Given the description of an element on the screen output the (x, y) to click on. 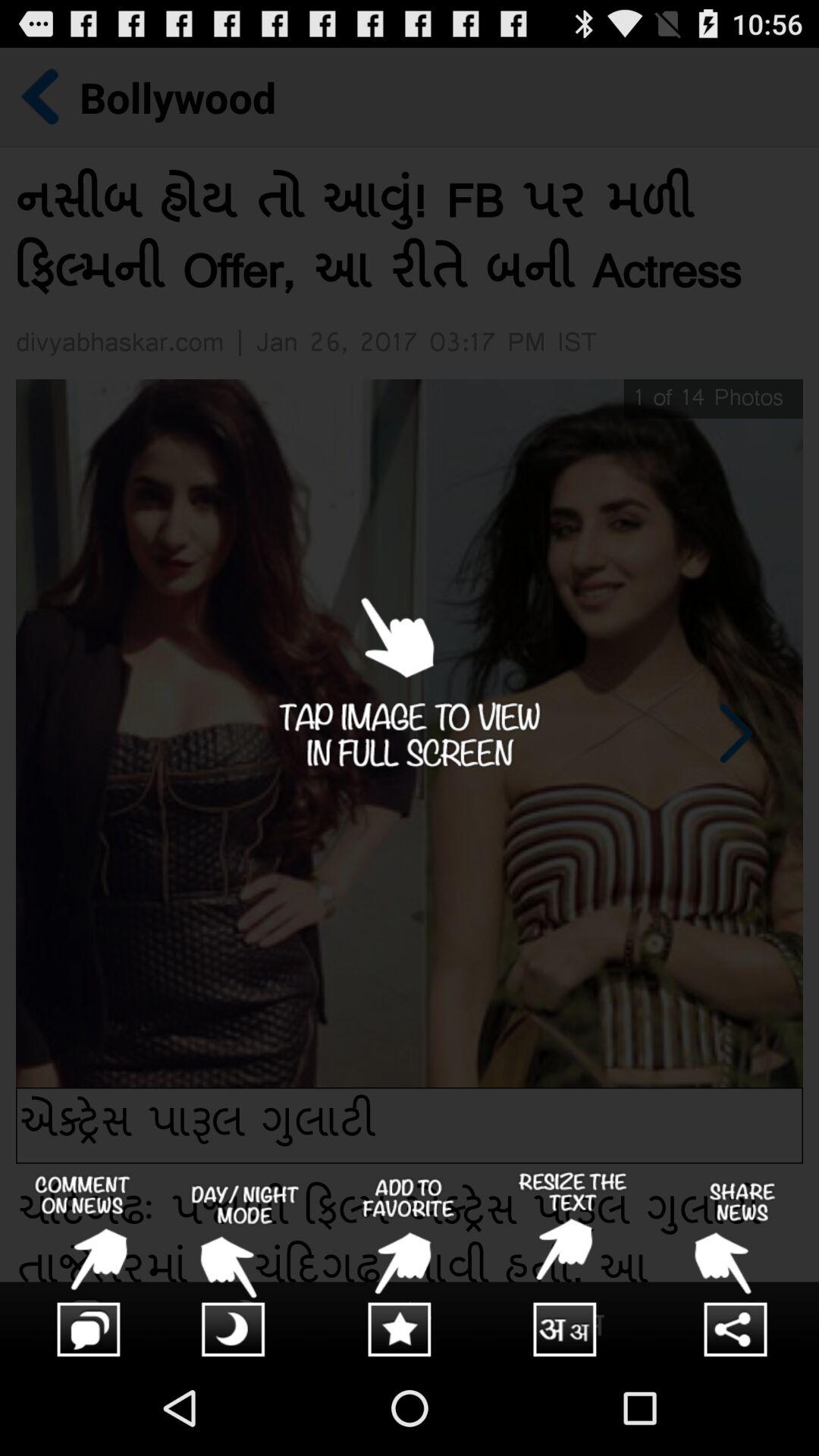
comment on news (81, 1265)
